Given the description of an element on the screen output the (x, y) to click on. 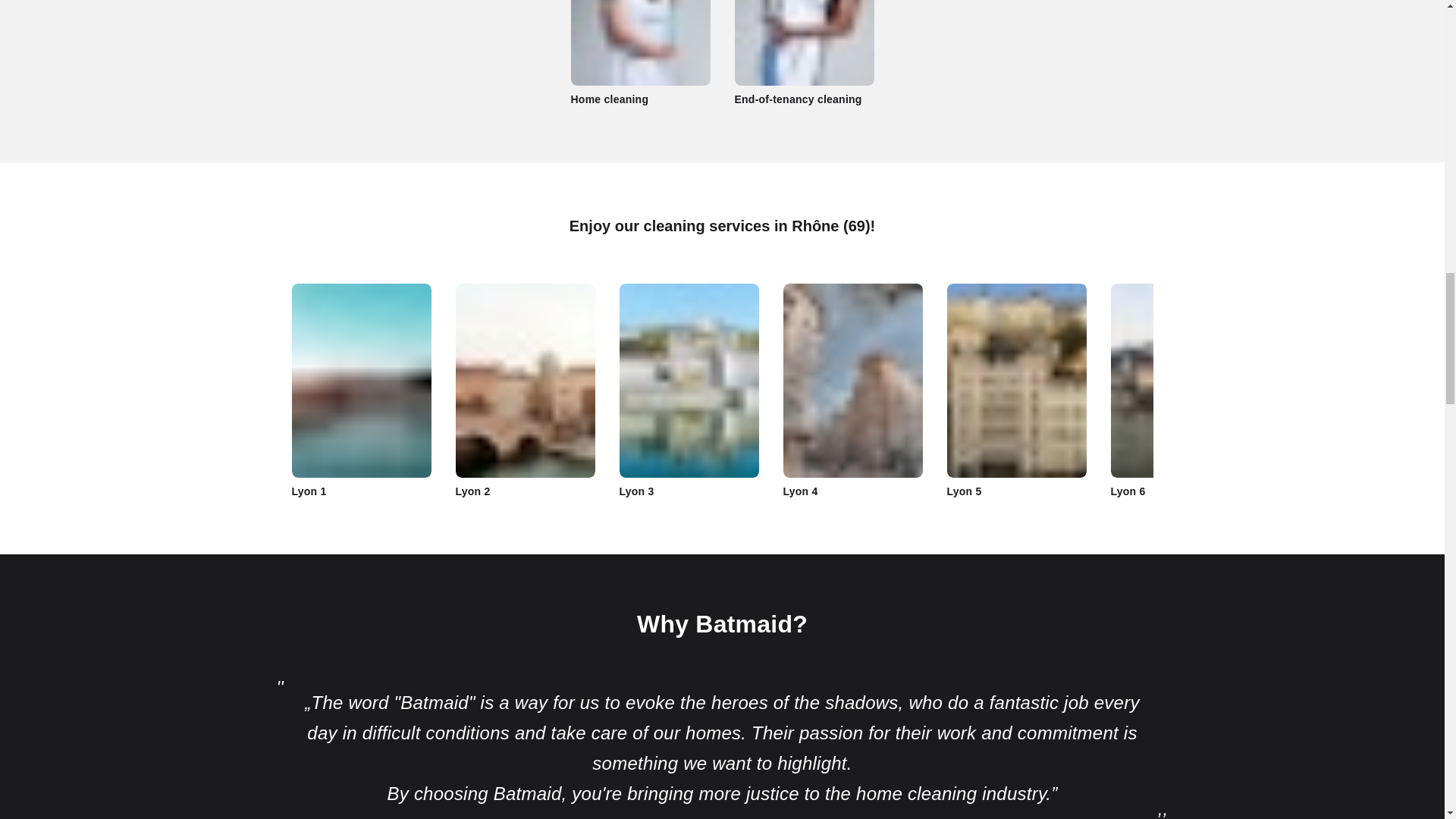
End-of-tenancy cleaning (803, 53)
Home cleaning (640, 53)
